Given the description of an element on the screen output the (x, y) to click on. 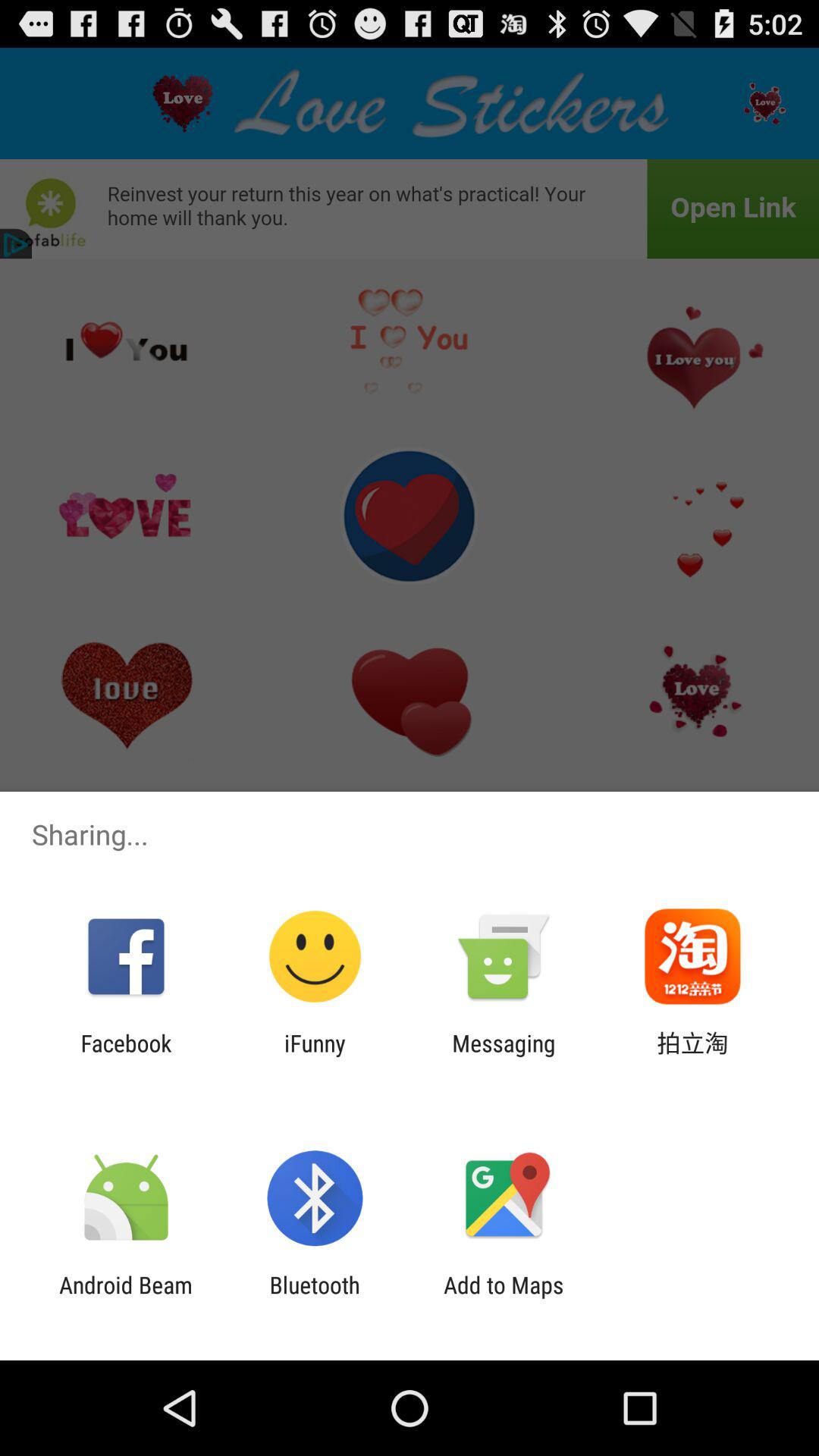
launch the app to the right of the messaging (692, 1056)
